Given the description of an element on the screen output the (x, y) to click on. 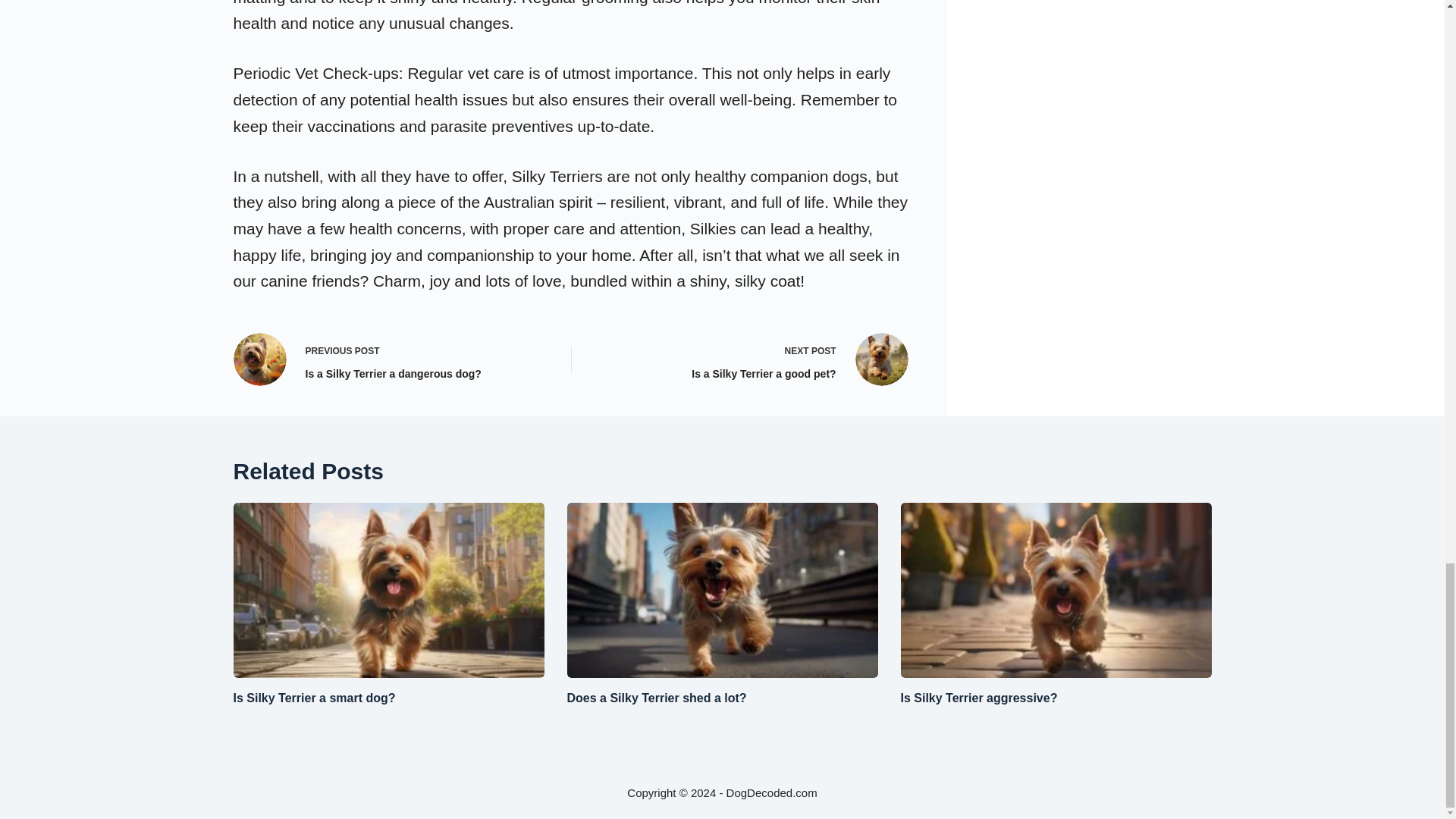
Is Silky Terrier aggressive? (979, 697)
Is Silky Terrier a smart dog? (751, 358)
Does a Silky Terrier shed a lot? (314, 697)
